Given the description of an element on the screen output the (x, y) to click on. 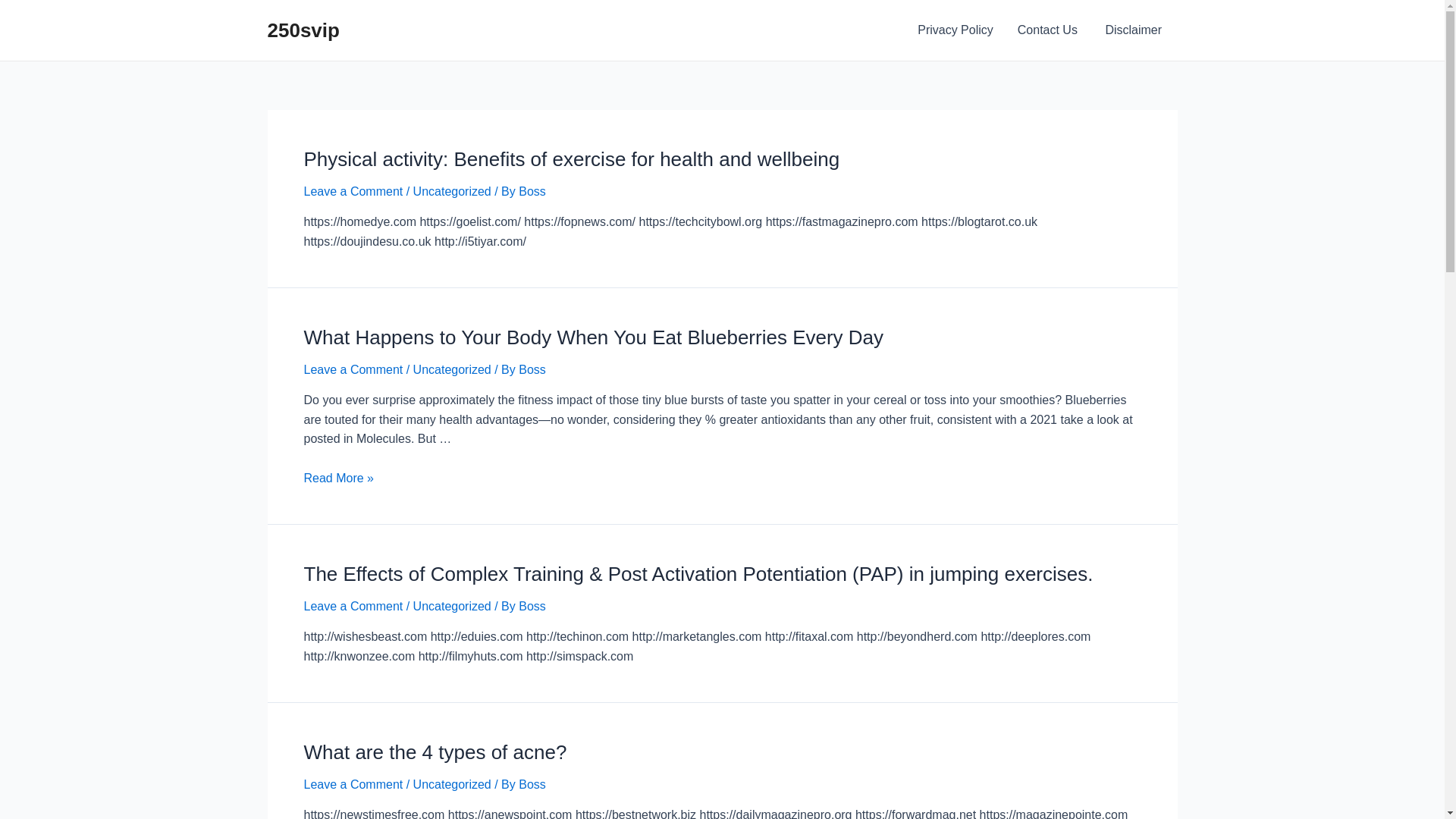
Uncategorized Element type: text (452, 191)
Leave a Comment Element type: text (352, 784)
What Happens to Your Body When You Eat Blueberries Every Day Element type: text (593, 337)
Leave a Comment Element type: text (352, 191)
Leave a Comment Element type: text (352, 369)
Boss Element type: text (532, 191)
Uncategorized Element type: text (452, 369)
Contact Us  Element type: text (1049, 30)
Uncategorized Element type: text (452, 605)
Uncategorized Element type: text (452, 784)
Disclaimer  Element type: text (1134, 30)
Boss Element type: text (532, 605)
Privacy Policy Element type: text (955, 30)
Boss Element type: text (532, 369)
250svip Element type: text (302, 29)
Leave a Comment Element type: text (352, 605)
What are the 4 types of acne? Element type: text (434, 751)
Boss Element type: text (532, 784)
